Given the description of an element on the screen output the (x, y) to click on. 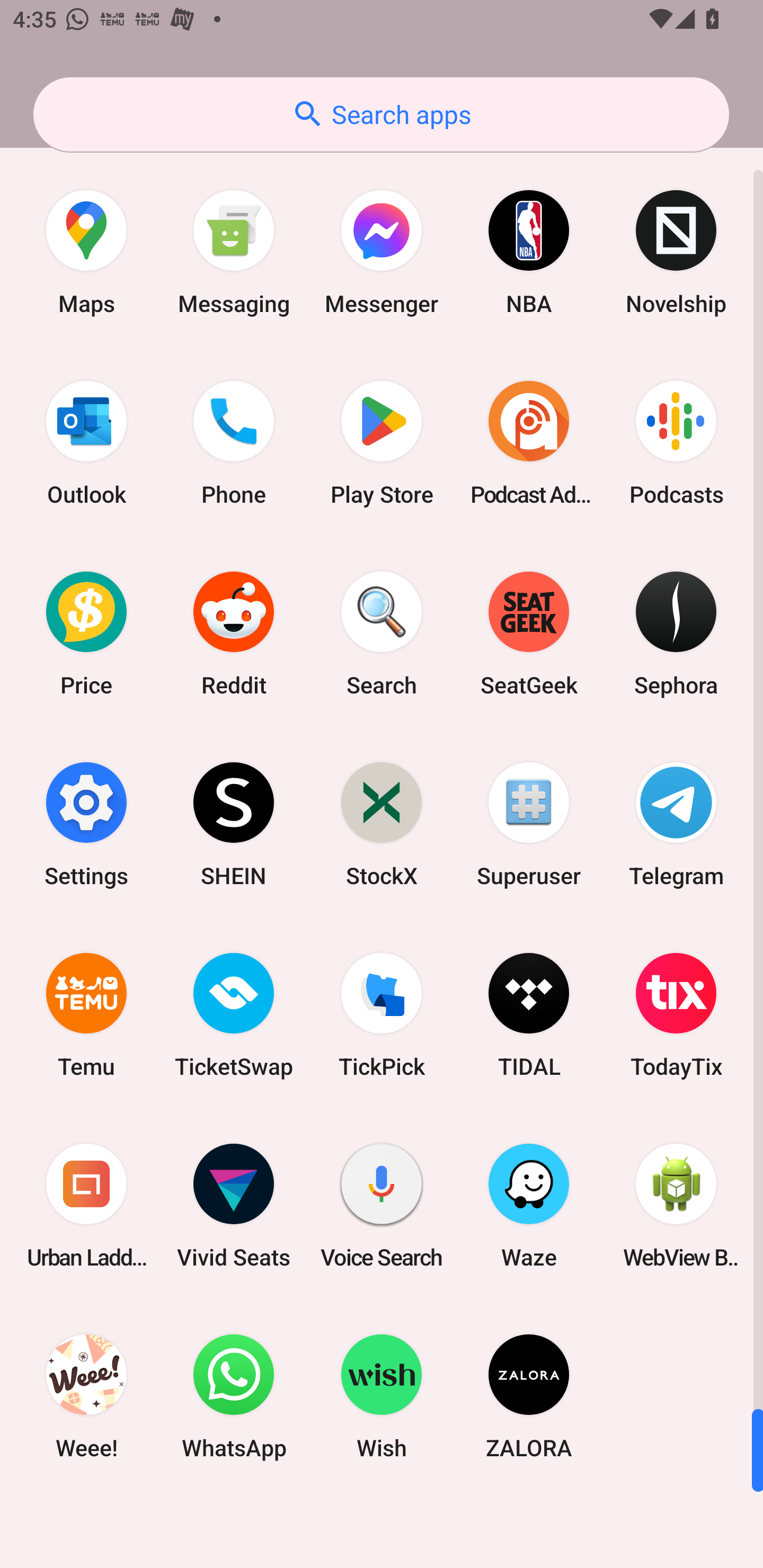
  Search apps (381, 114)
Maps (86, 252)
Messaging (233, 252)
Messenger (381, 252)
NBA (528, 252)
Novelship (676, 252)
Outlook (86, 442)
Phone (233, 442)
Play Store (381, 442)
Podcast Addict (528, 442)
Podcasts (676, 442)
Price (86, 633)
Reddit (233, 633)
Search (381, 633)
SeatGeek (528, 633)
Sephora (676, 633)
Settings (86, 823)
SHEIN (233, 823)
StockX (381, 823)
Superuser (528, 823)
Telegram (676, 823)
Temu (86, 1014)
TicketSwap (233, 1014)
TickPick (381, 1014)
TIDAL (528, 1014)
TodayTix (676, 1014)
Urban Ladder (86, 1205)
Vivid Seats (233, 1205)
Voice Search (381, 1205)
Waze (528, 1205)
WebView Browser Tester (676, 1205)
Weee! (86, 1396)
WhatsApp (233, 1396)
Wish (381, 1396)
ZALORA (528, 1396)
